Given the description of an element on the screen output the (x, y) to click on. 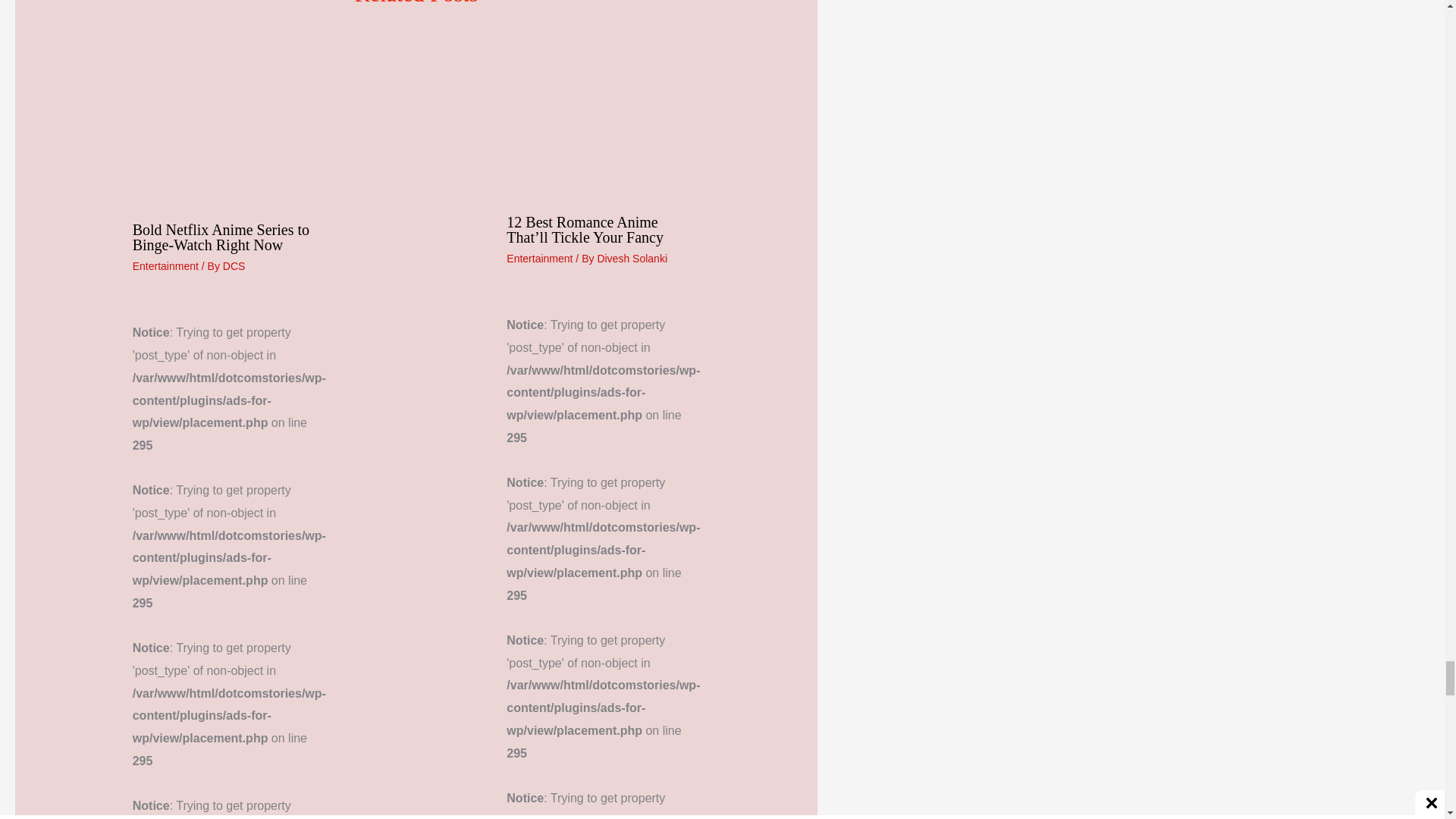
View all posts by DCS (234, 265)
View all posts by Divesh Solanki (631, 258)
